Given the description of an element on the screen output the (x, y) to click on. 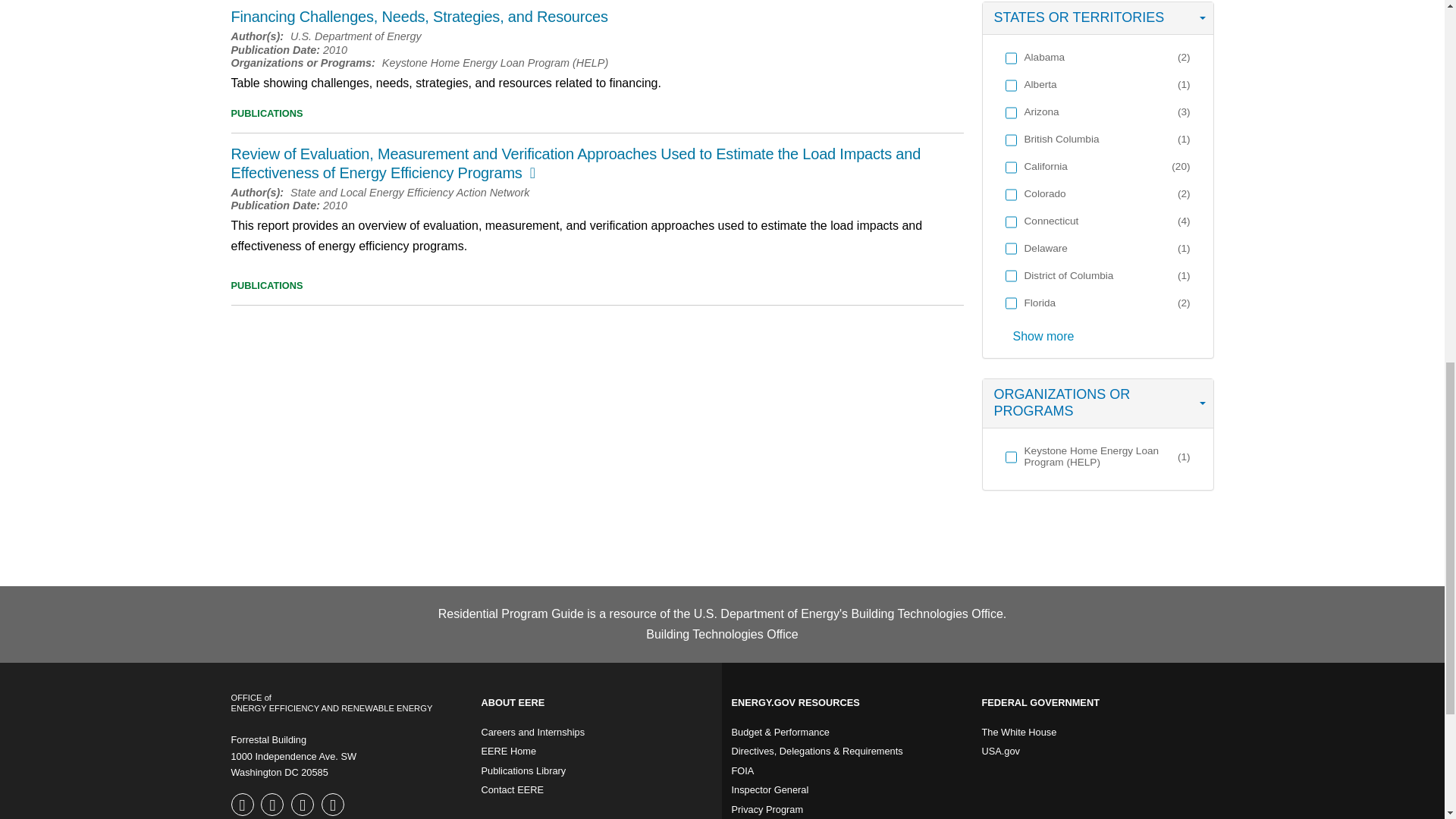
Link to Youtube (304, 805)
Link to Linkedin (334, 805)
Financing Challenges, Needs, Strategies, and Resources (418, 16)
Link to Facebook (243, 805)
Link to Twitter (273, 805)
